Given the description of an element on the screen output the (x, y) to click on. 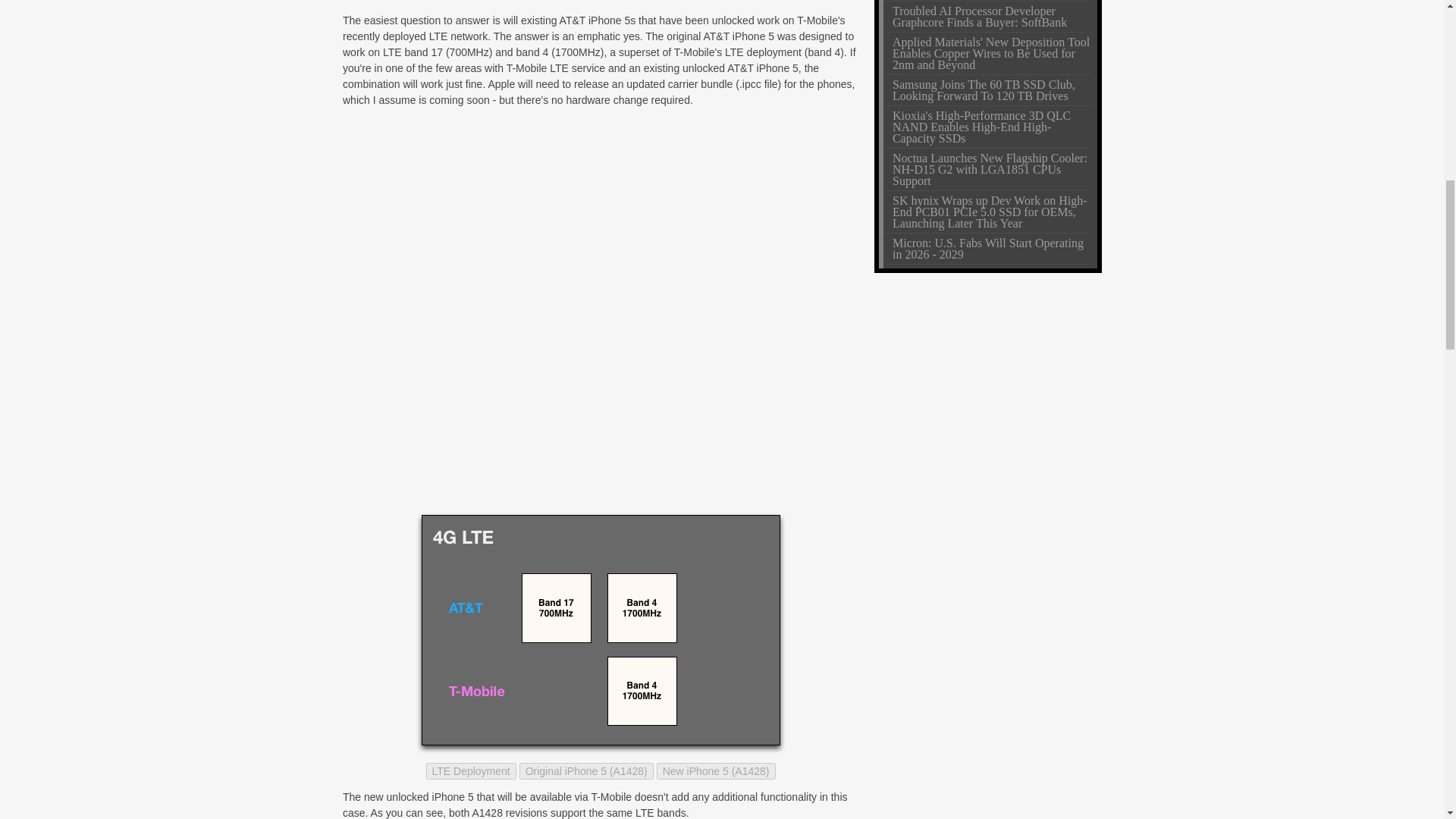
LTE Deployment (471, 770)
